Given the description of an element on the screen output the (x, y) to click on. 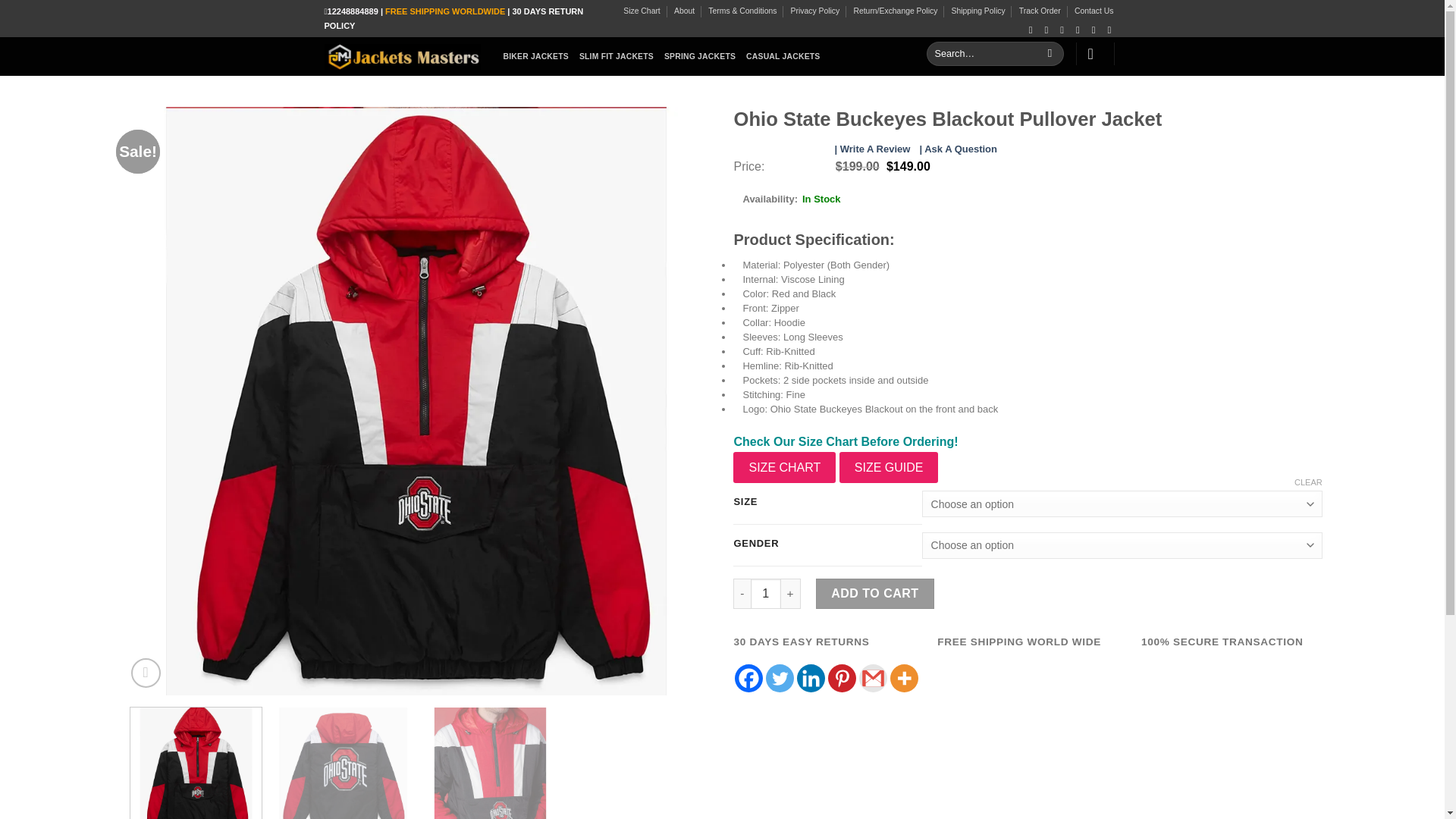
Search (1050, 53)
1 (765, 593)
About (684, 11)
CLEAR (1308, 481)
Contact Us (1093, 11)
Zoom (145, 672)
SIZE GUIDE (889, 468)
Size Chart (642, 11)
Jackets Masters (402, 56)
